Given the description of an element on the screen output the (x, y) to click on. 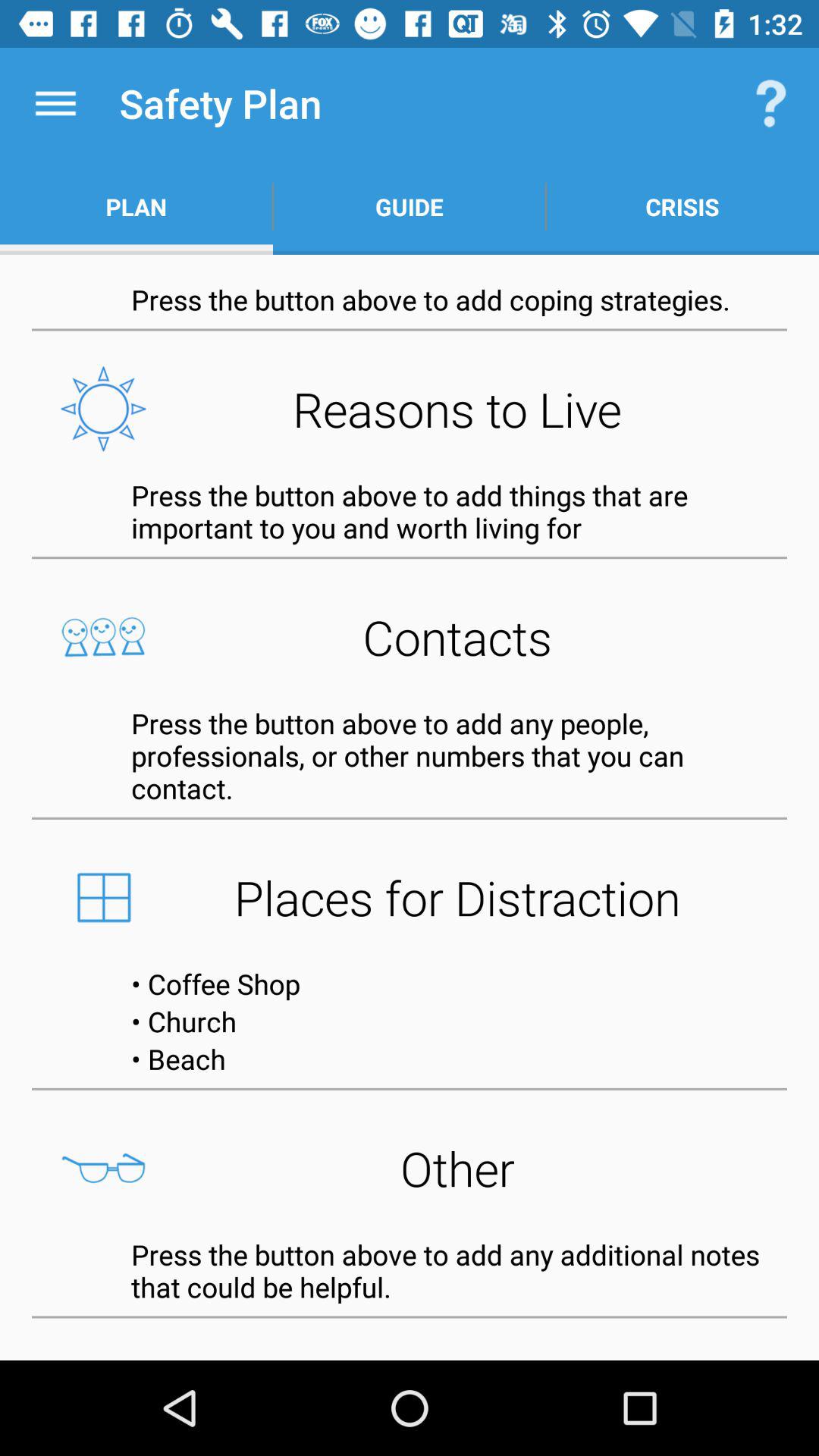
press the icon to the right of guide (682, 206)
